Given the description of an element on the screen output the (x, y) to click on. 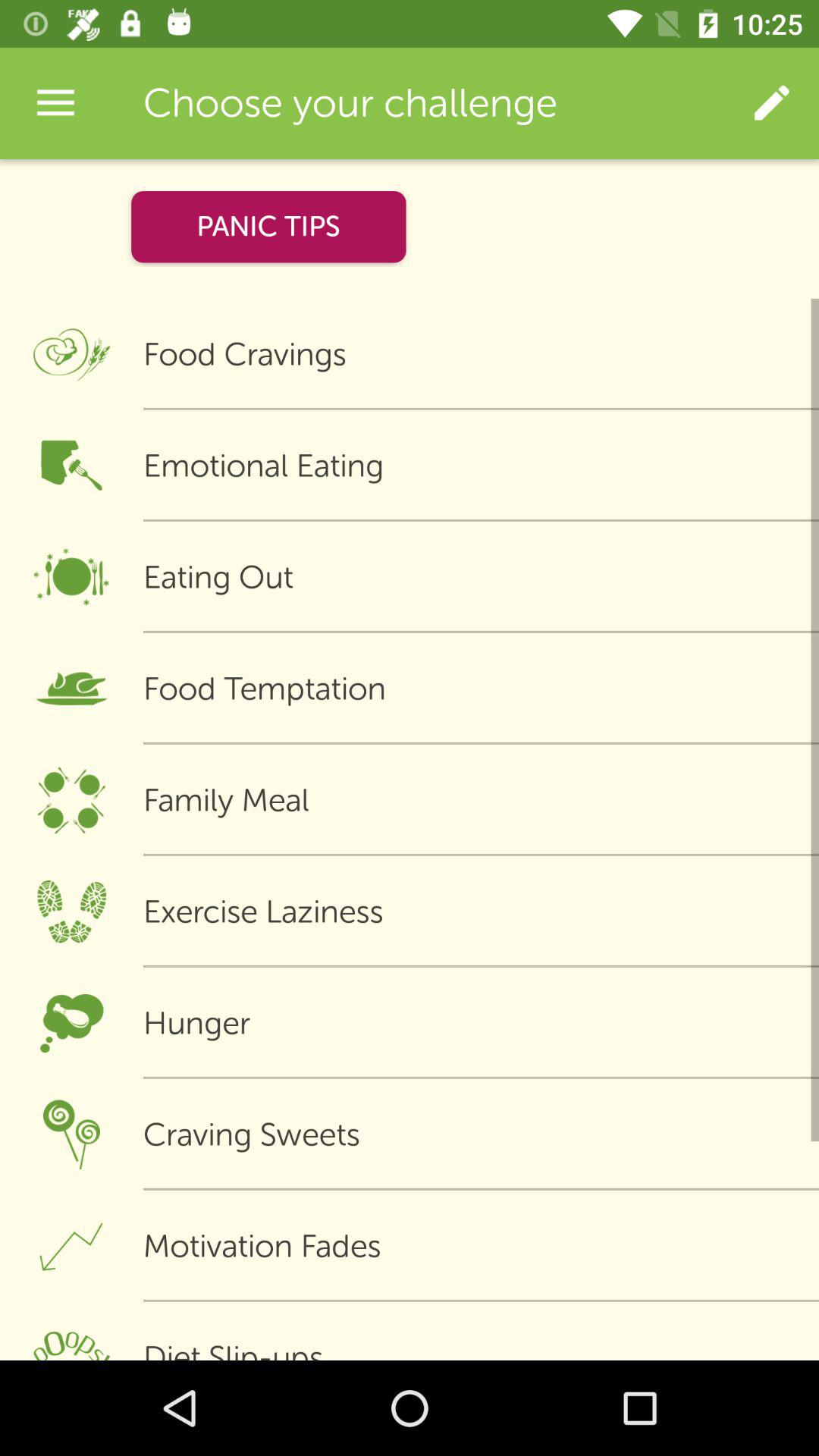
tap the panic tips icon (268, 226)
